Given the description of an element on the screen output the (x, y) to click on. 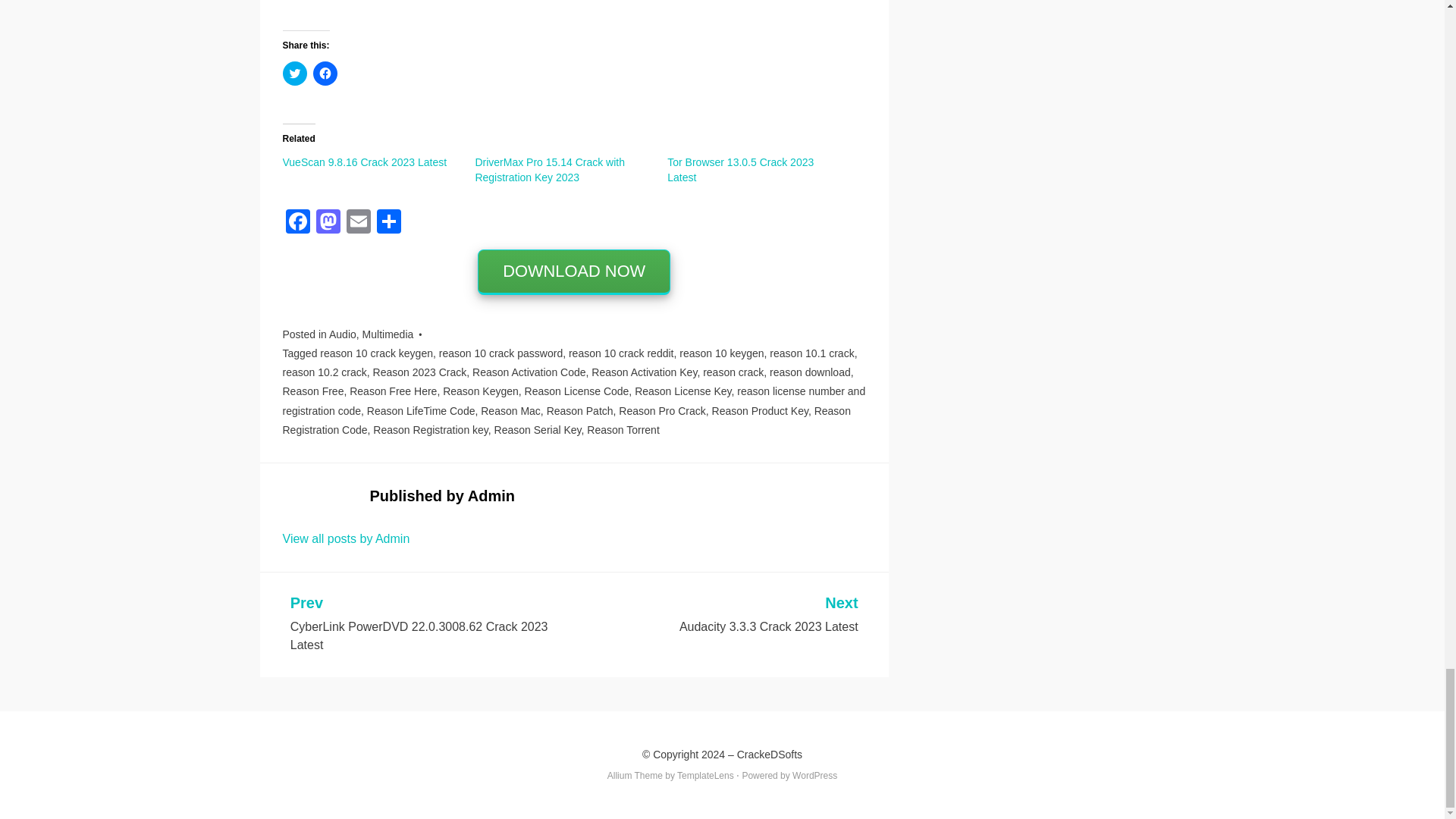
Email (357, 223)
DriverMax Pro 15.14 Crack with Registration Key 2023 (549, 169)
Email (357, 223)
VueScan 9.8.16 Crack 2023 Latest (364, 162)
Facebook (297, 223)
reason 10 crack reddit (621, 353)
Tor Browser 13.0.5 Crack 2023 Latest (739, 169)
VueScan 9.8.16 Crack 2023 Latest (364, 162)
Facebook (297, 223)
reason 10 crack keygen (376, 353)
